Given the description of an element on the screen output the (x, y) to click on. 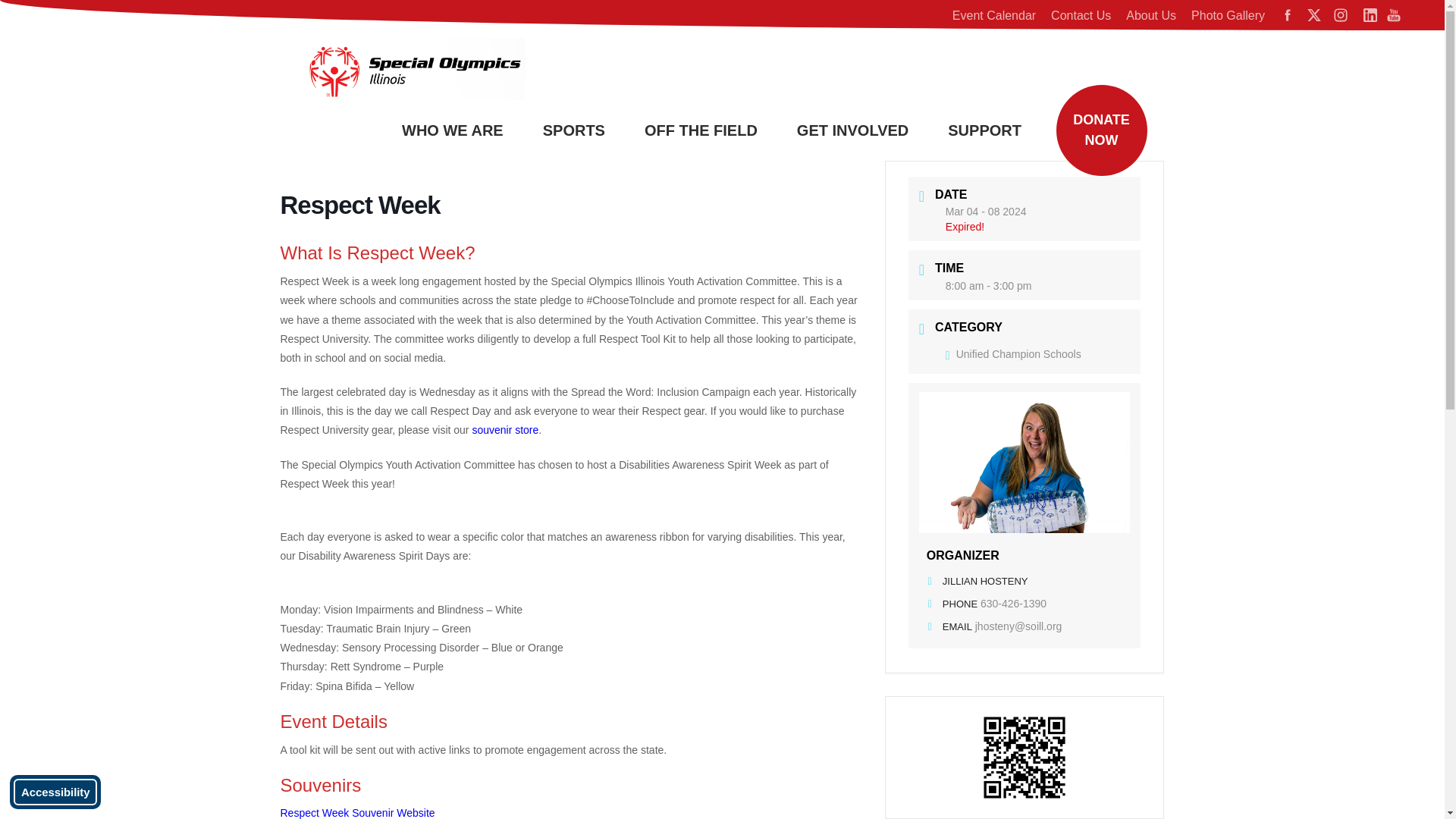
Contact Us (1080, 14)
WHO WE ARE (463, 130)
OFF THE FIELD (710, 130)
Photo Gallery (1227, 14)
Accessibility Menu (55, 791)
SPORTS (584, 130)
About Us (1150, 14)
Event Calendar (993, 14)
